Given the description of an element on the screen output the (x, y) to click on. 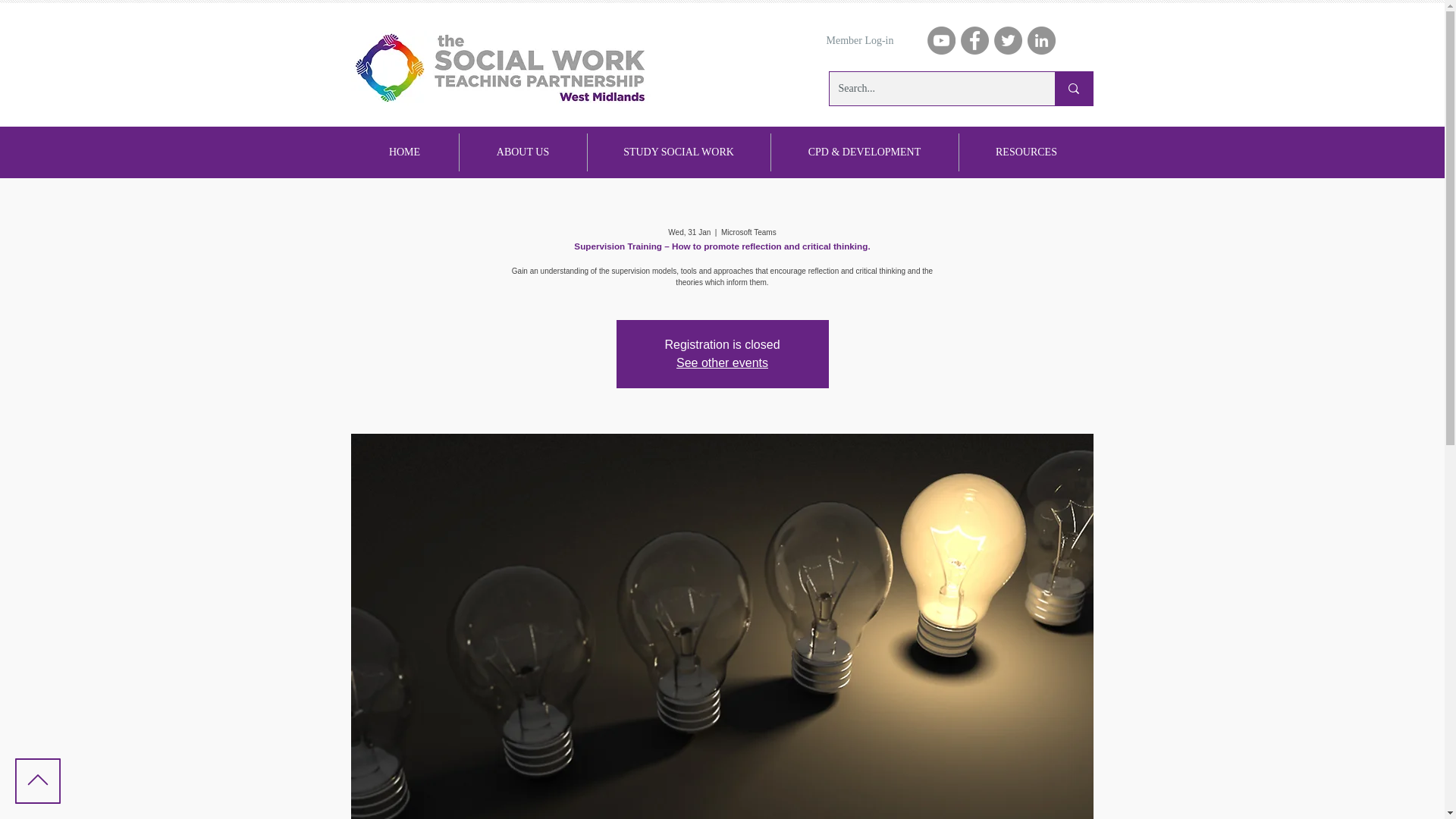
RESOURCES (1025, 152)
See other events (722, 362)
Member Log-in (859, 40)
HOME (404, 152)
